Given the description of an element on the screen output the (x, y) to click on. 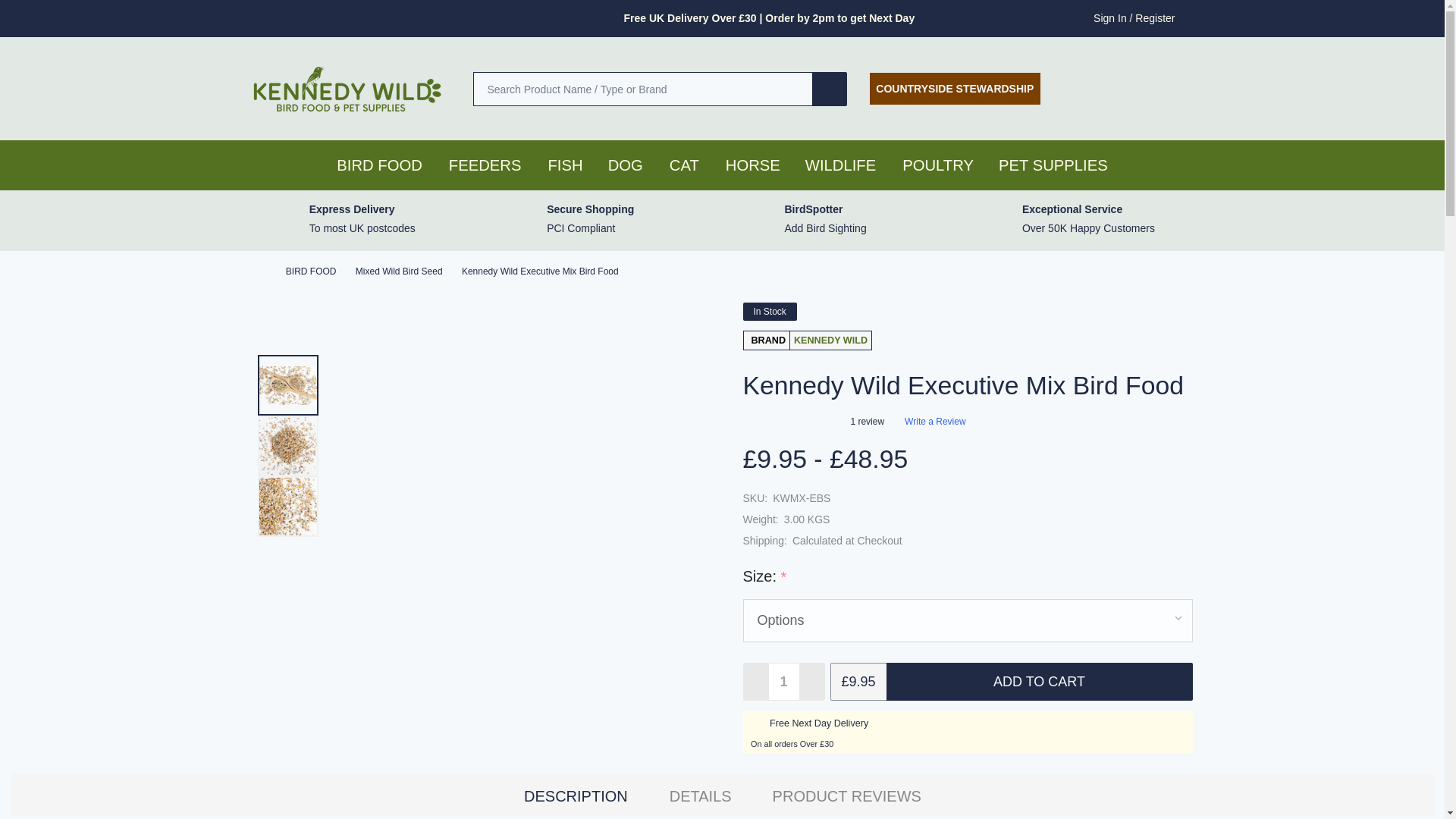
Gift Certificates (1131, 88)
DOG (620, 165)
Cart (1182, 88)
SEARCH (829, 88)
FEEDERS (481, 165)
Call Us: 01778342665 (1080, 88)
FISH (564, 165)
BIRD FOOD (375, 165)
